Given the description of an element on the screen output the (x, y) to click on. 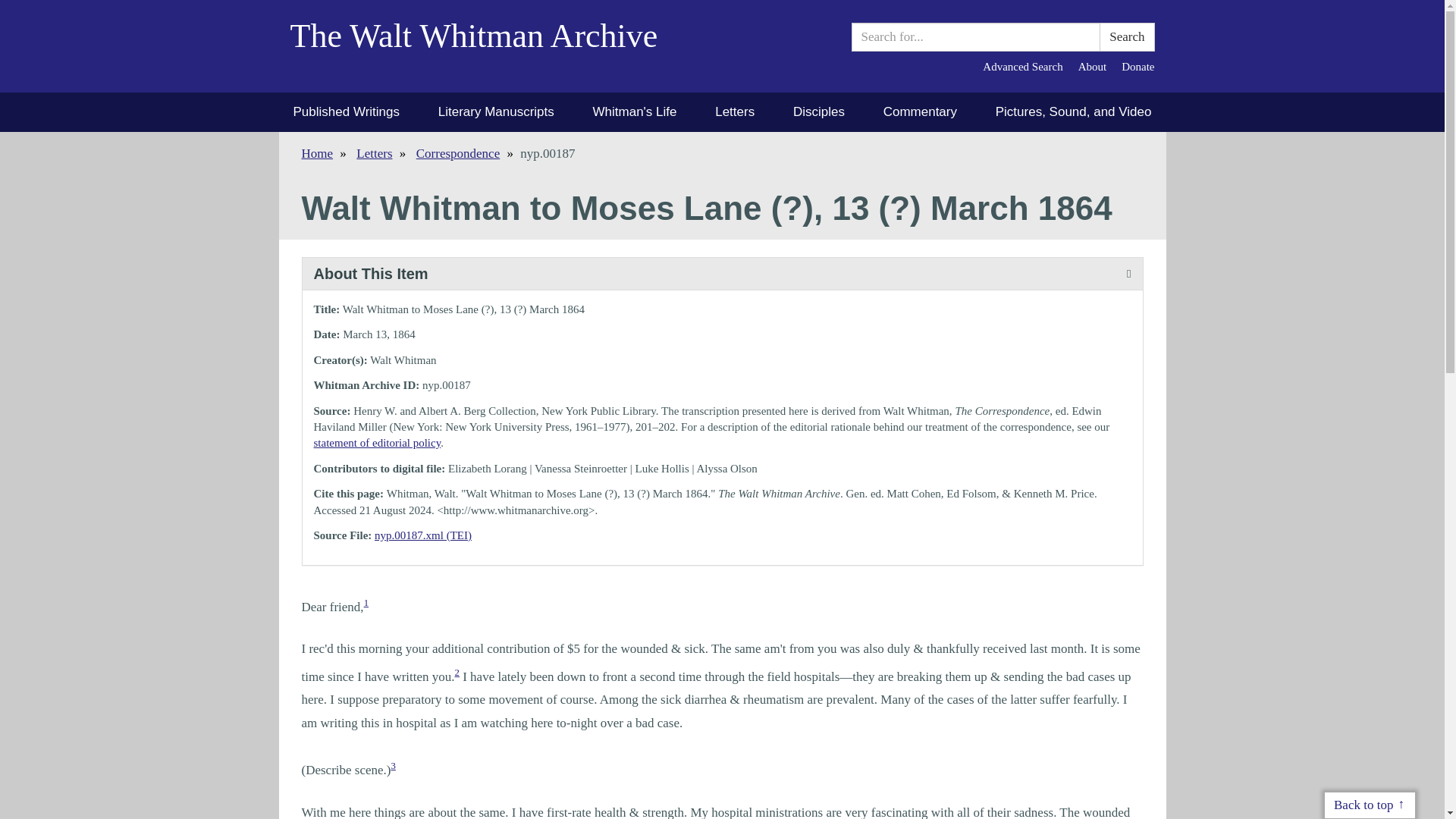
statement of editorial policy (377, 442)
About This Item (721, 273)
About (1092, 66)
Commentary (919, 112)
Advanced Search (1022, 66)
Pictures, Sound, and Video (1073, 112)
Disciples (818, 112)
The Walt Whitman Archive (484, 46)
Correspondence (457, 153)
Search (1126, 36)
